Given the description of an element on the screen output the (x, y) to click on. 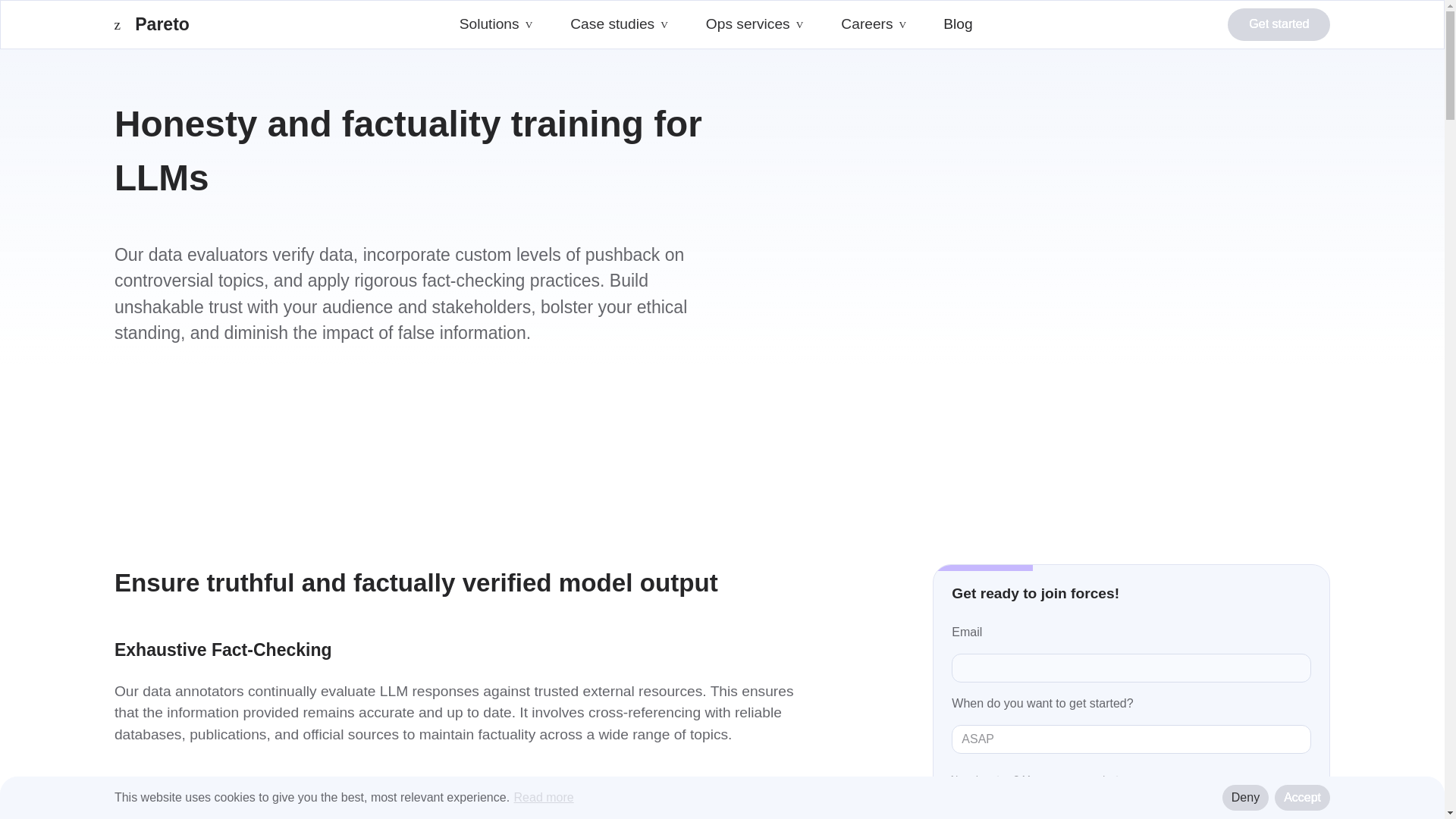
Blog (957, 24)
Get started (1278, 24)
Ops services (209, 24)
Solutions (754, 24)
Case studies (496, 24)
Message your project manager (618, 24)
Careers (1091, 778)
privacy policy (873, 24)
